Given the description of an element on the screen output the (x, y) to click on. 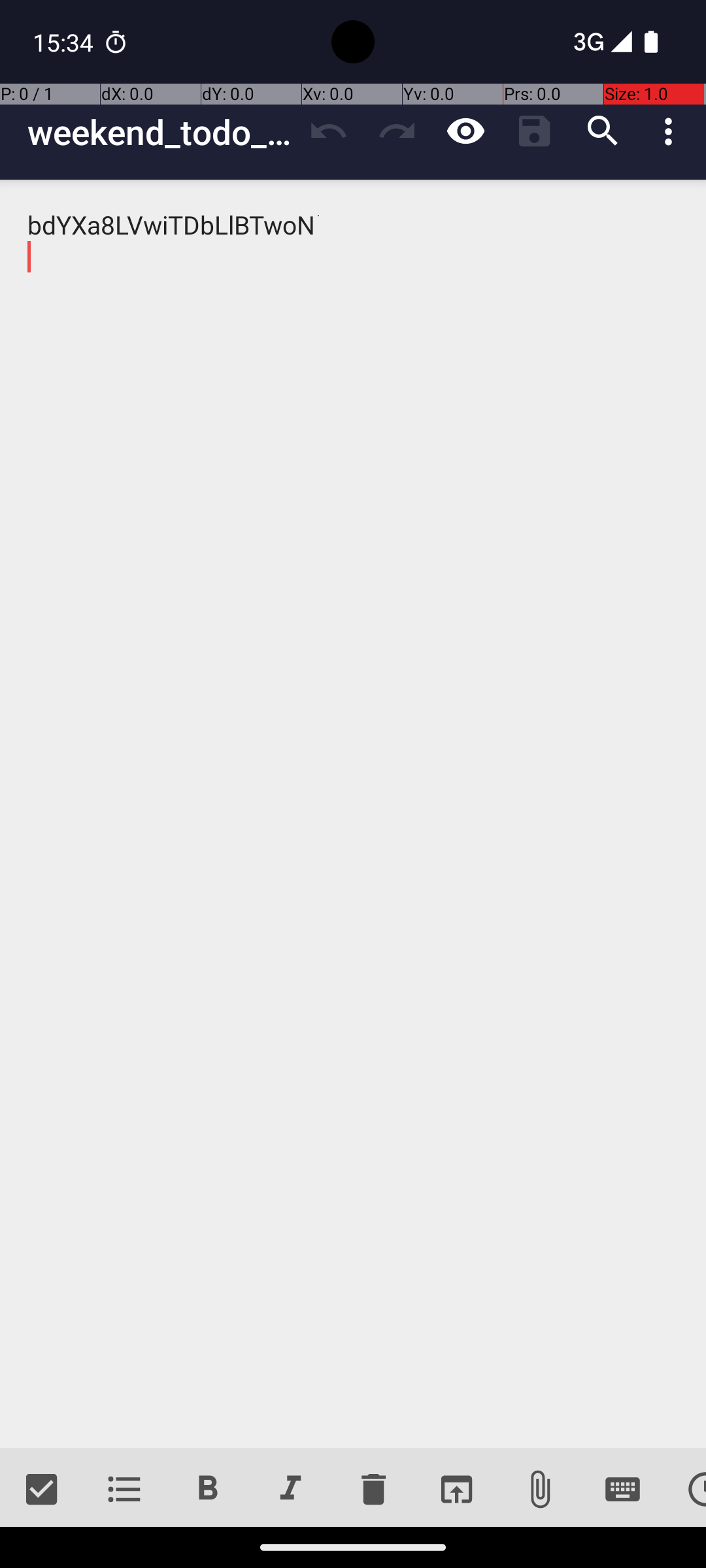
weekend_todo_list_edited Element type: android.widget.TextView (160, 131)
bdYXa8LVwiTDbLlBTwoN
 Element type: android.widget.EditText (353, 813)
